Given the description of an element on the screen output the (x, y) to click on. 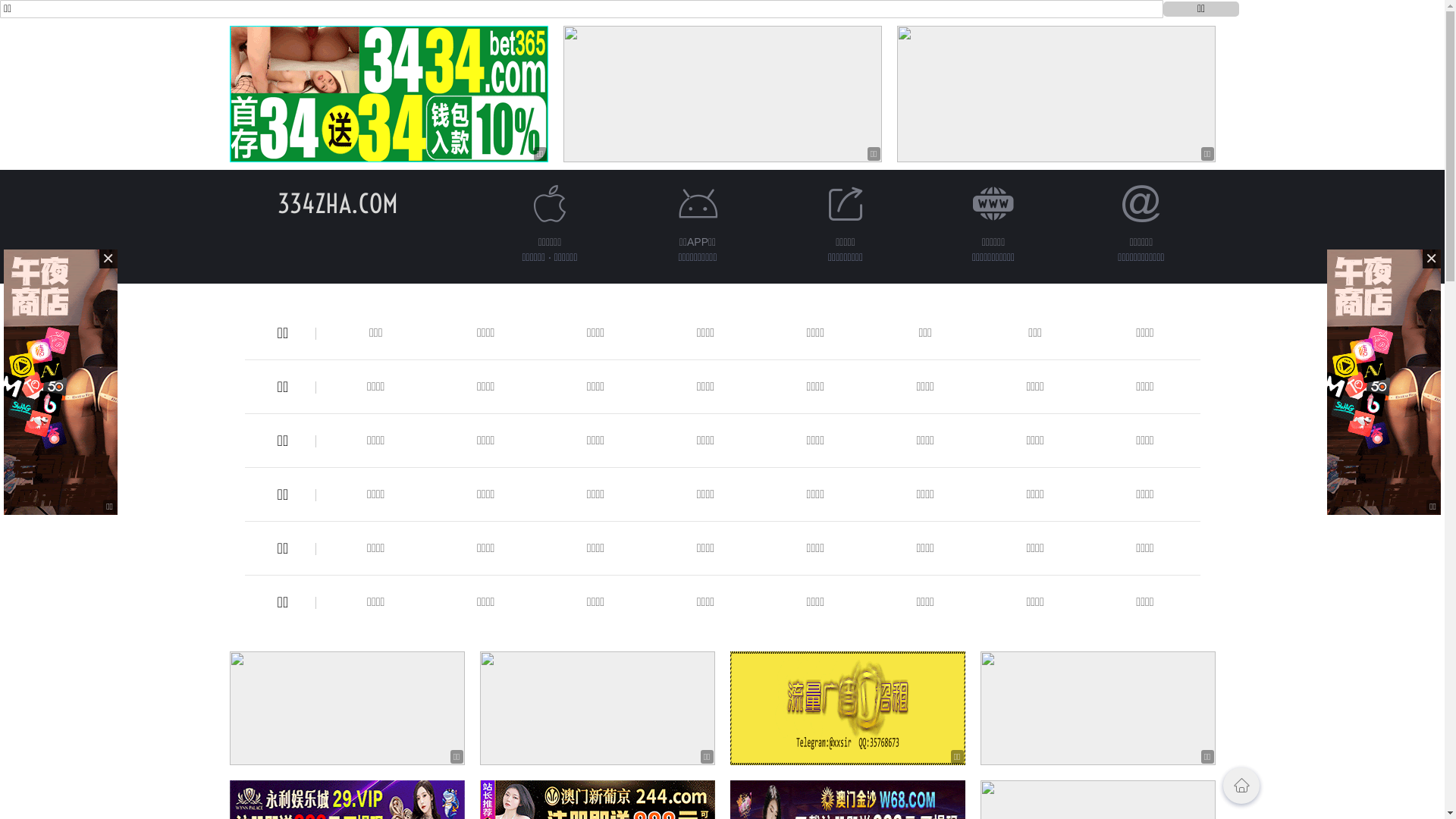
334ZHA.COM Element type: text (337, 203)
